Given the description of an element on the screen output the (x, y) to click on. 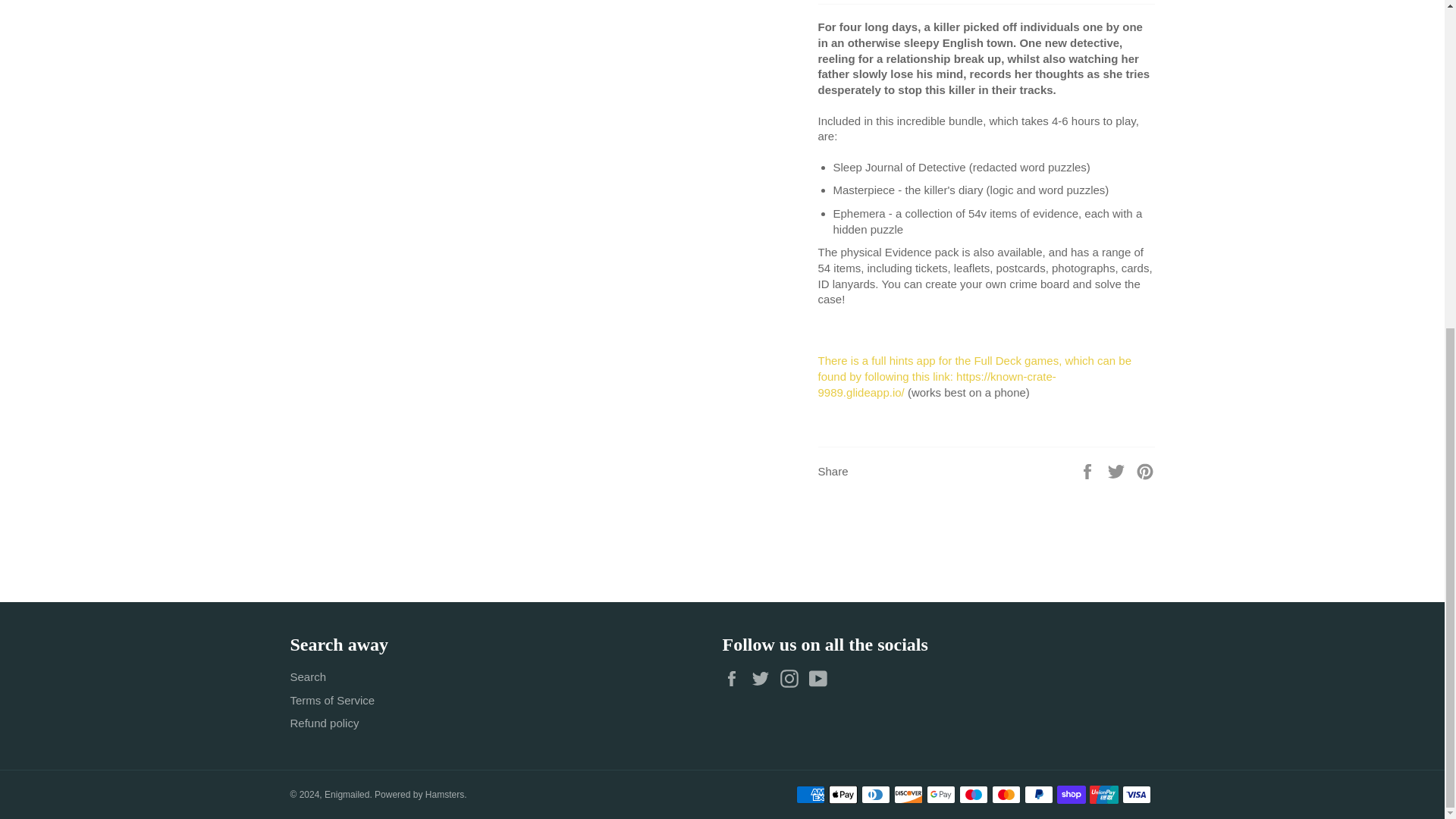
Enigmailed on Facebook (735, 678)
Enigmailed on Instagram (793, 678)
Tweet on Twitter (1117, 470)
Pin on Pinterest (1144, 470)
Share on Facebook (1088, 470)
Enigmailed on YouTube (821, 678)
Enigmailed on Twitter (764, 678)
